Given the description of an element on the screen output the (x, y) to click on. 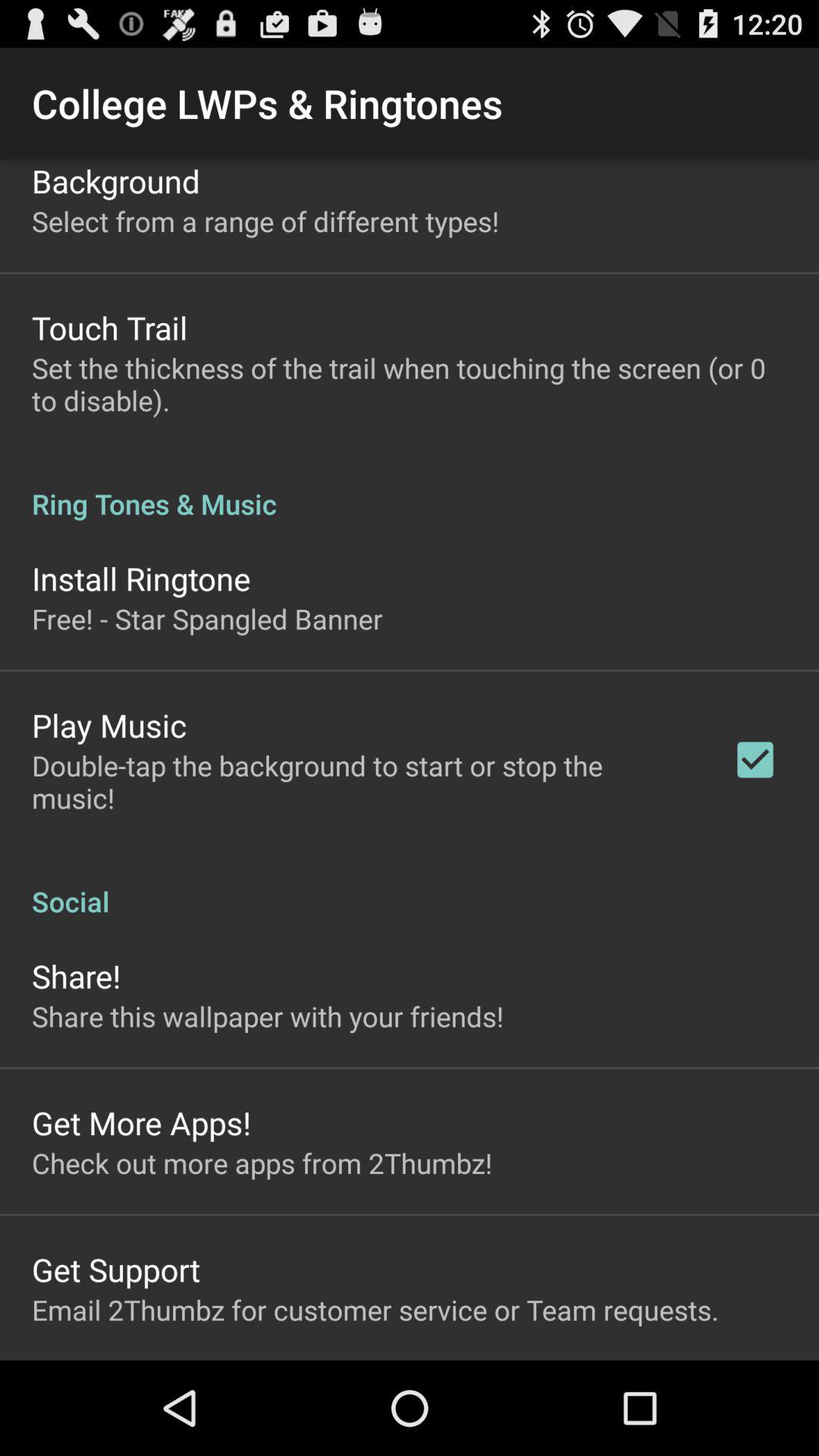
click the free star spangled (206, 618)
